Given the description of an element on the screen output the (x, y) to click on. 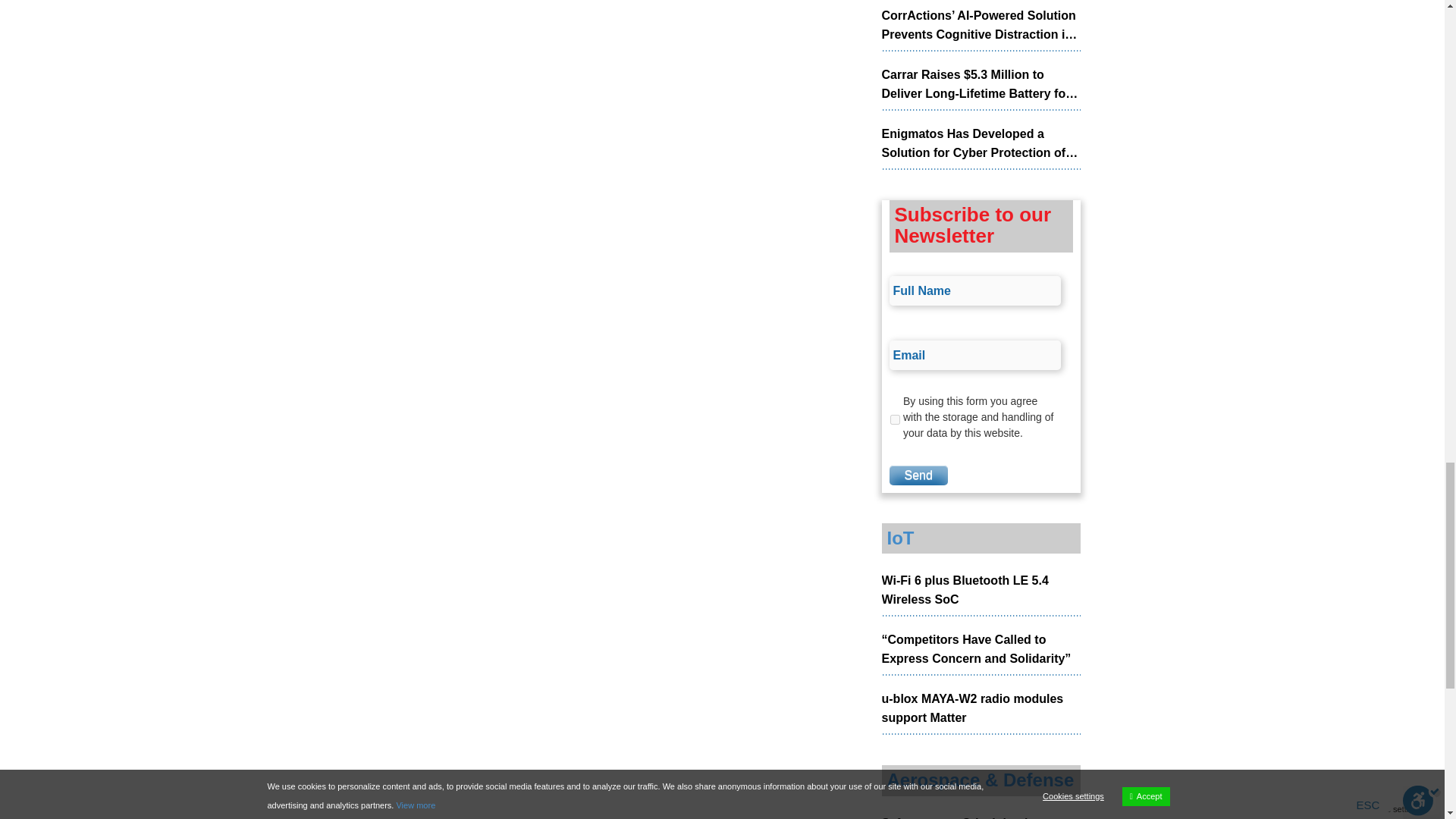
true (894, 419)
Send (917, 475)
